Given the description of an element on the screen output the (x, y) to click on. 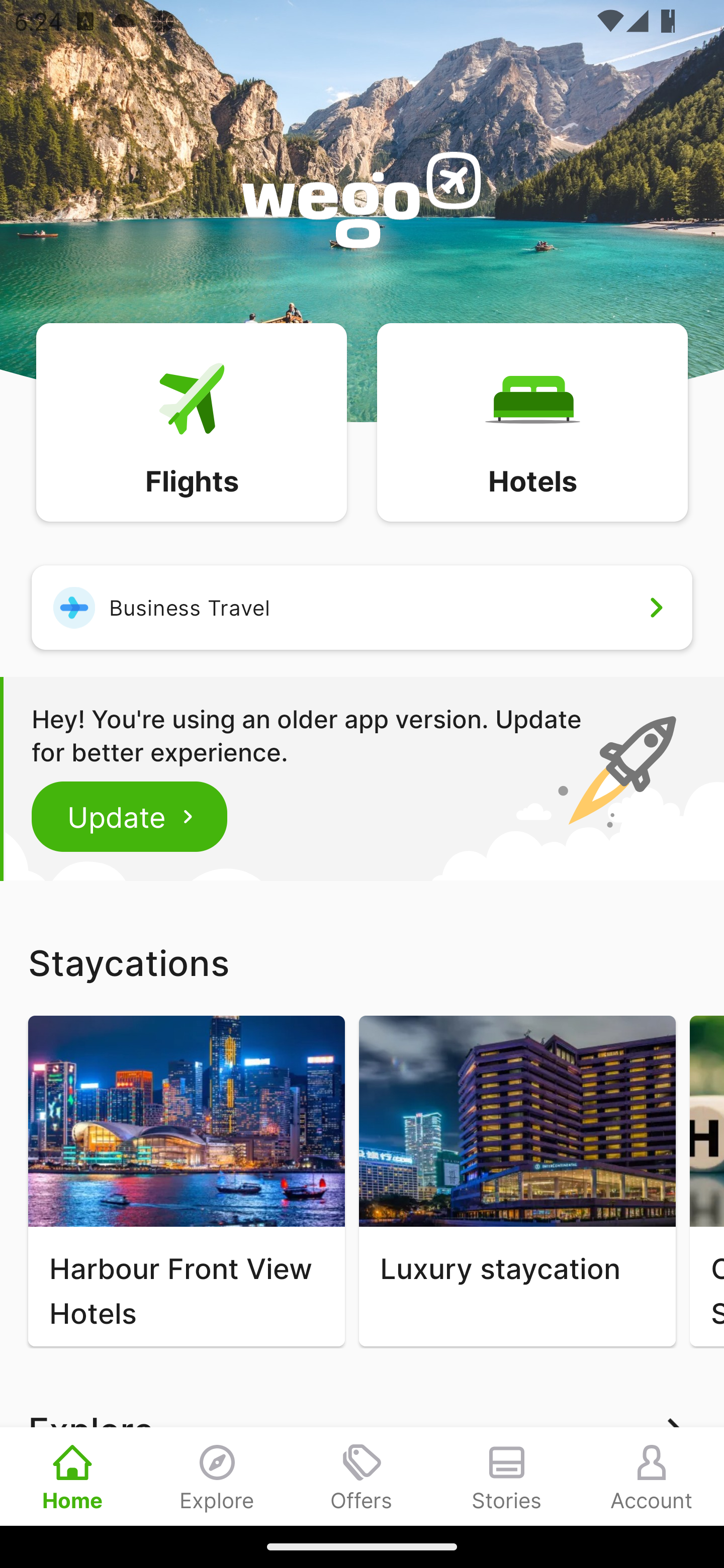
Flights (191, 420)
Hotels (532, 420)
Business Travel (361, 607)
Update (129, 815)
Staycations (362, 962)
Harbour Front View Hotels (186, 1181)
Luxury staycation (517, 1181)
Explore (216, 1475)
Offers (361, 1475)
Stories (506, 1475)
Account (651, 1475)
